Given the description of an element on the screen output the (x, y) to click on. 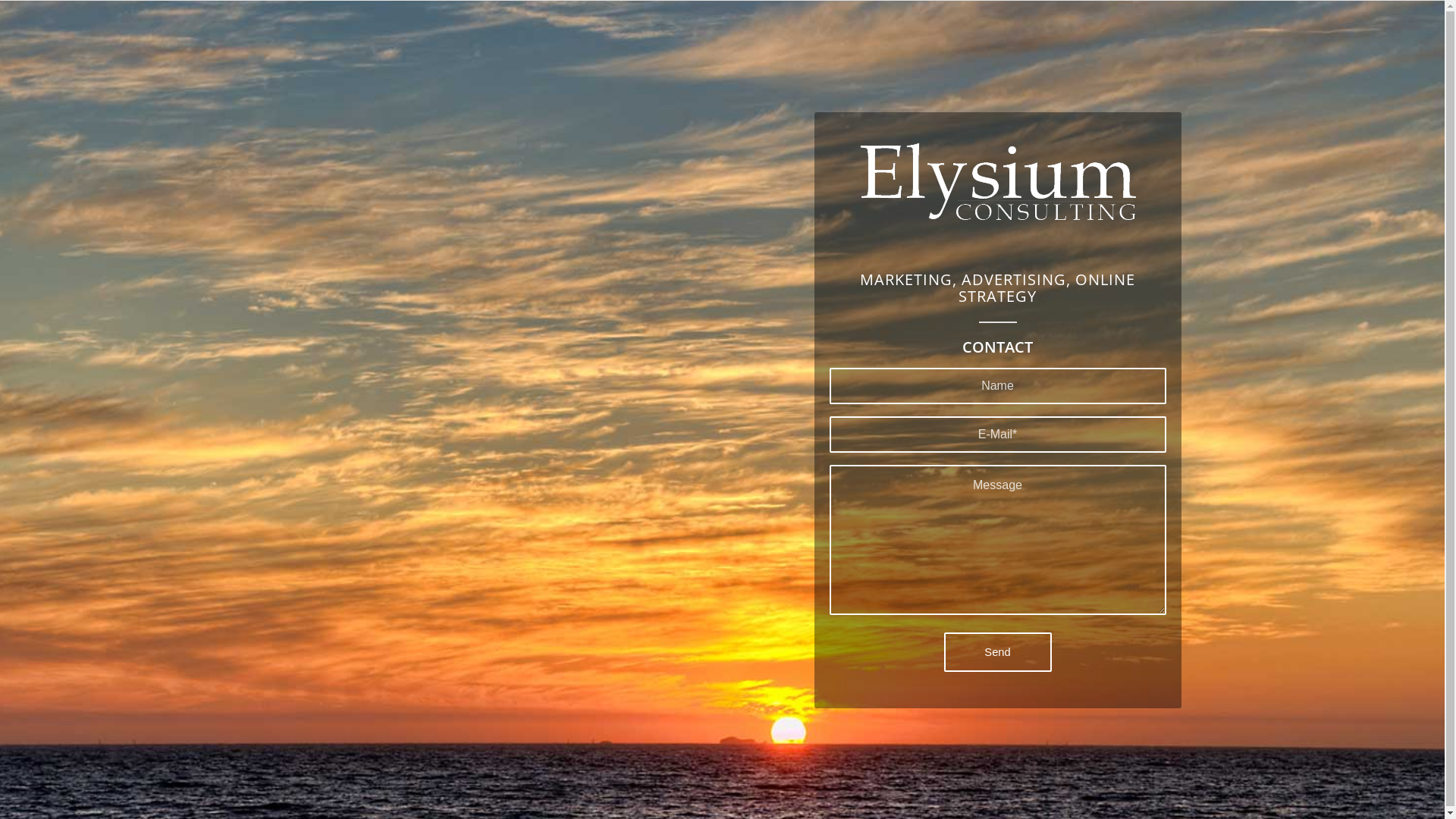
elysium-reverse-logo Element type: hover (997, 180)
Send Element type: text (997, 651)
